Given the description of an element on the screen output the (x, y) to click on. 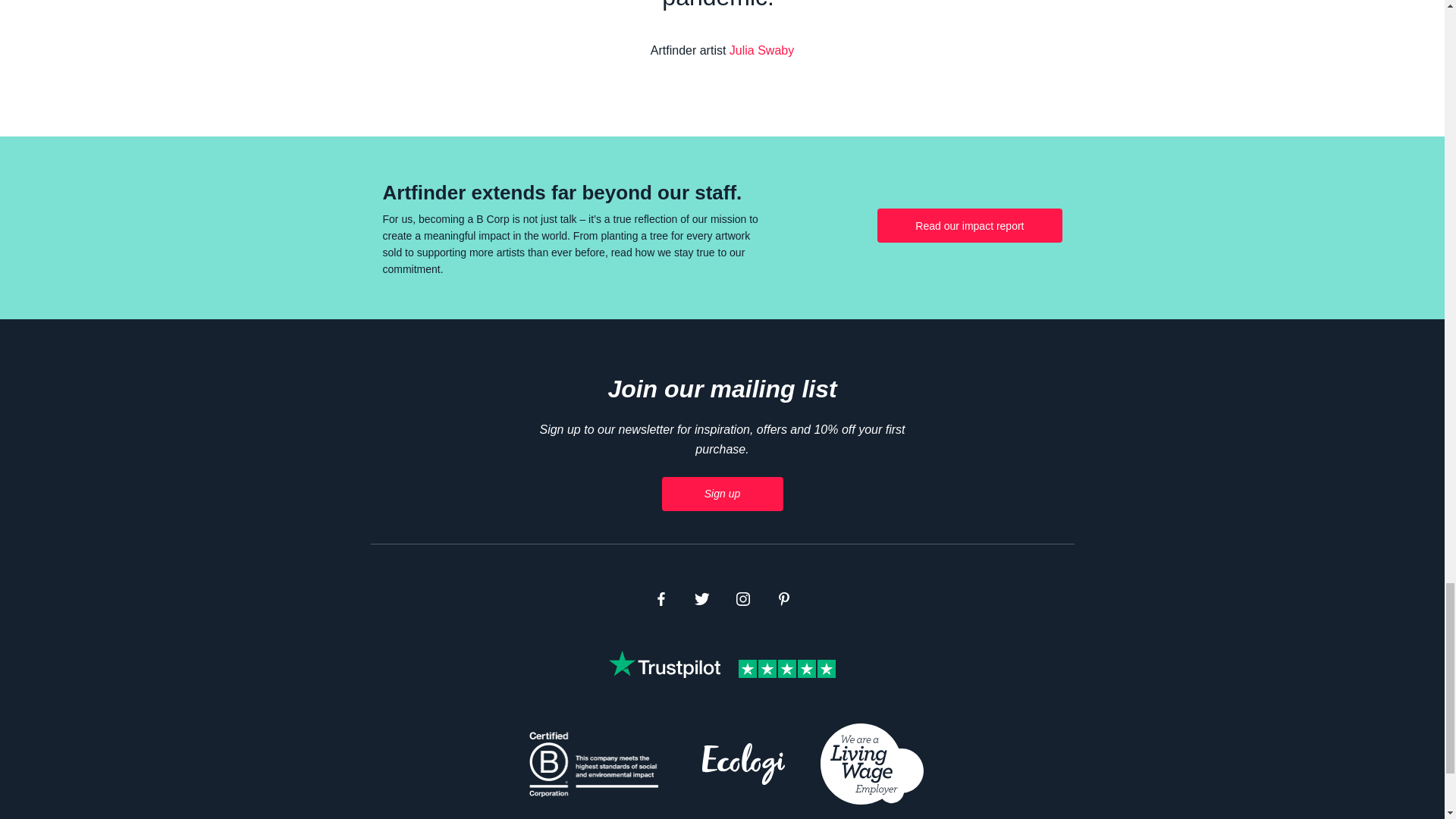
Sign up (722, 493)
Julia Swaby (761, 50)
Read our impact report (969, 225)
